Given the description of an element on the screen output the (x, y) to click on. 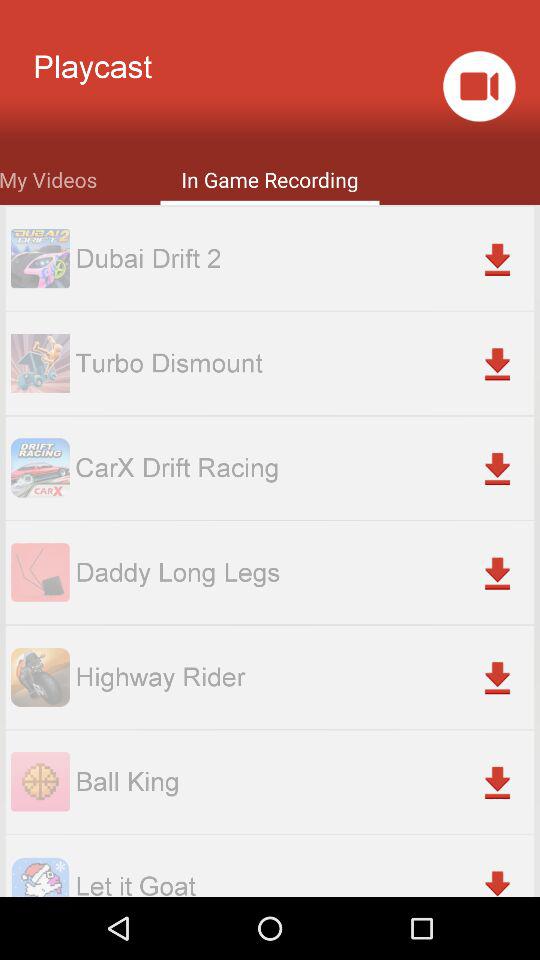
choose the my videos (48, 178)
